Given the description of an element on the screen output the (x, y) to click on. 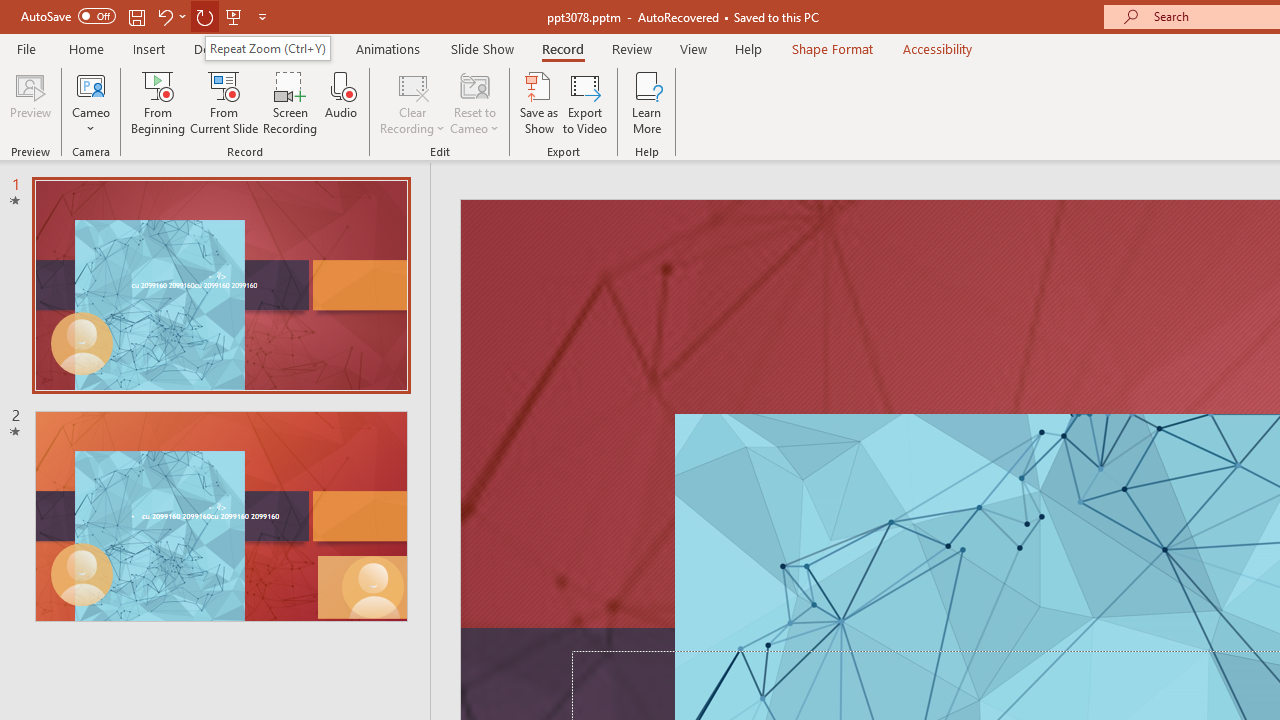
Screen Recording (290, 102)
Clear Recording (412, 102)
